Given the description of an element on the screen output the (x, y) to click on. 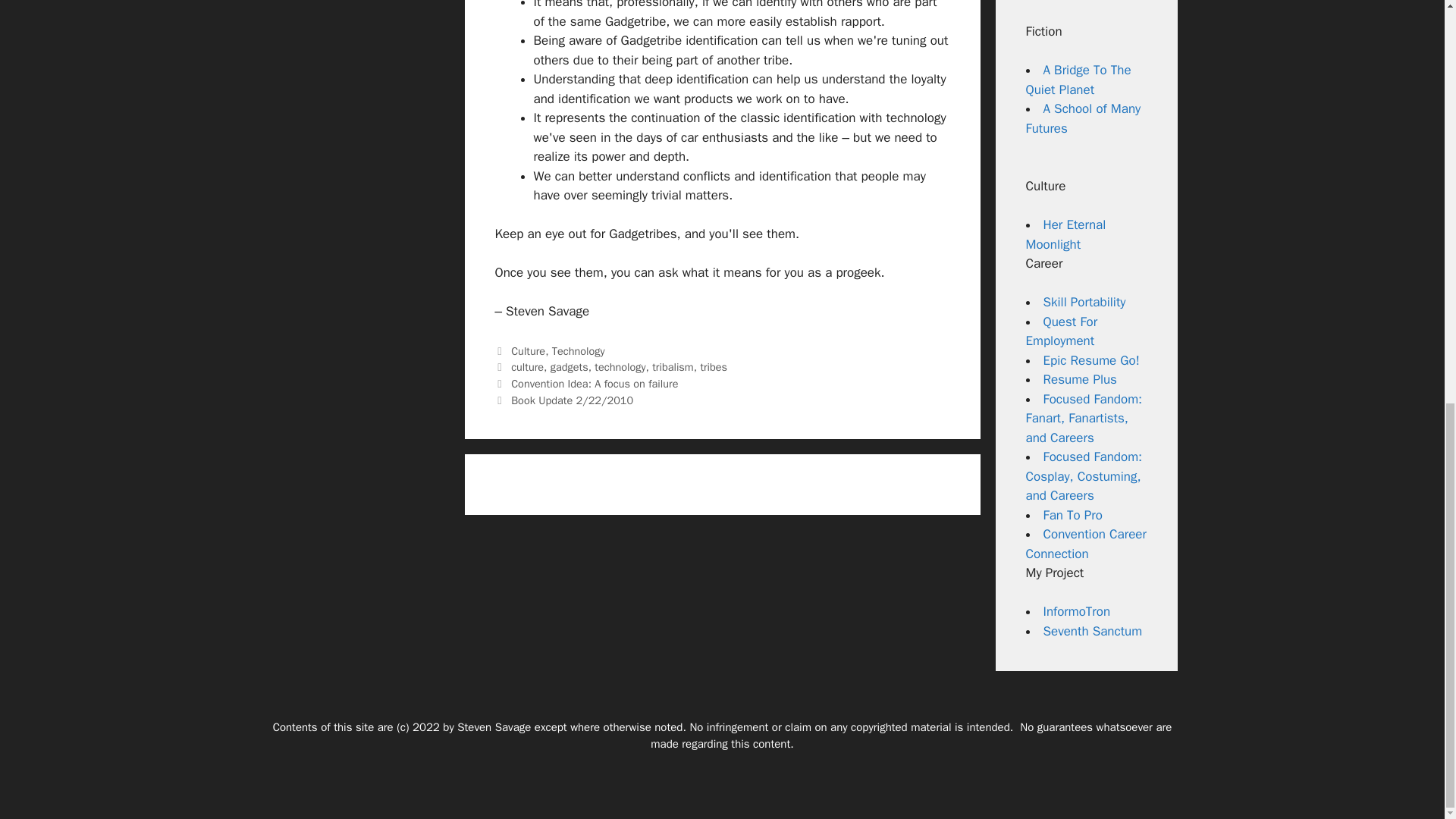
Convention Idea: A focus on failure (594, 383)
culture (527, 366)
technology (619, 366)
Technology (578, 350)
tribalism (672, 366)
Culture (527, 350)
tribes (713, 366)
gadgets (569, 366)
Scroll back to top (1406, 744)
